Given the description of an element on the screen output the (x, y) to click on. 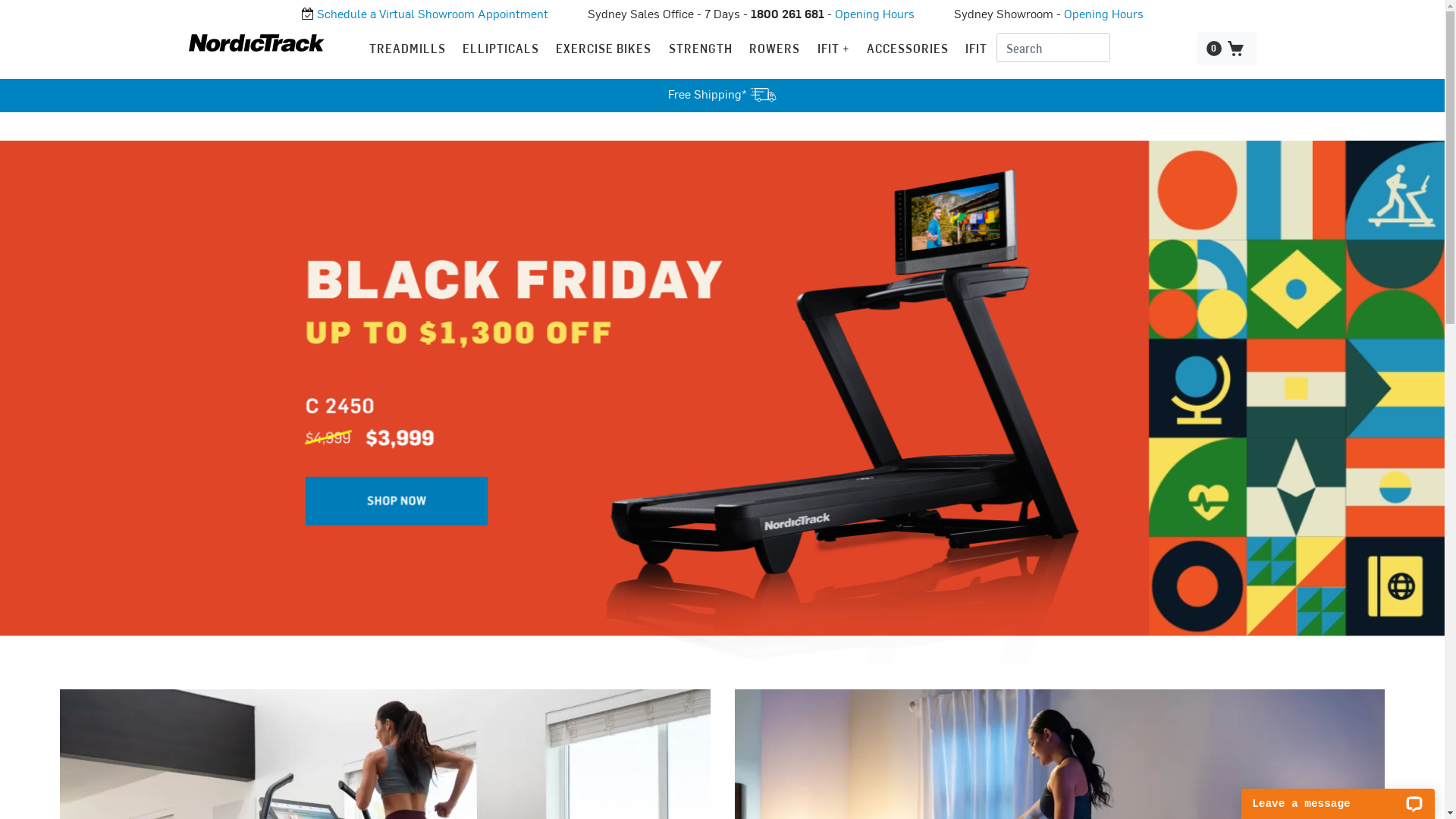
0 Element type: text (1226, 48)
IFIT Element type: text (976, 48)
EXERCISE BIKES Element type: text (603, 48)
ELLIPTICALS Element type: text (500, 48)
ACCESSORIES Element type: text (907, 48)
STRENGTH Element type: text (700, 48)
TREADMILLS Element type: text (407, 48)
Schedule a Virtual Showroom Appointment Element type: text (432, 15)
IFIT + Element type: text (833, 48)
Opening Hours Element type: text (873, 15)
ROWERS Element type: text (774, 48)
Opening Hours Element type: text (1102, 15)
